Given the description of an element on the screen output the (x, y) to click on. 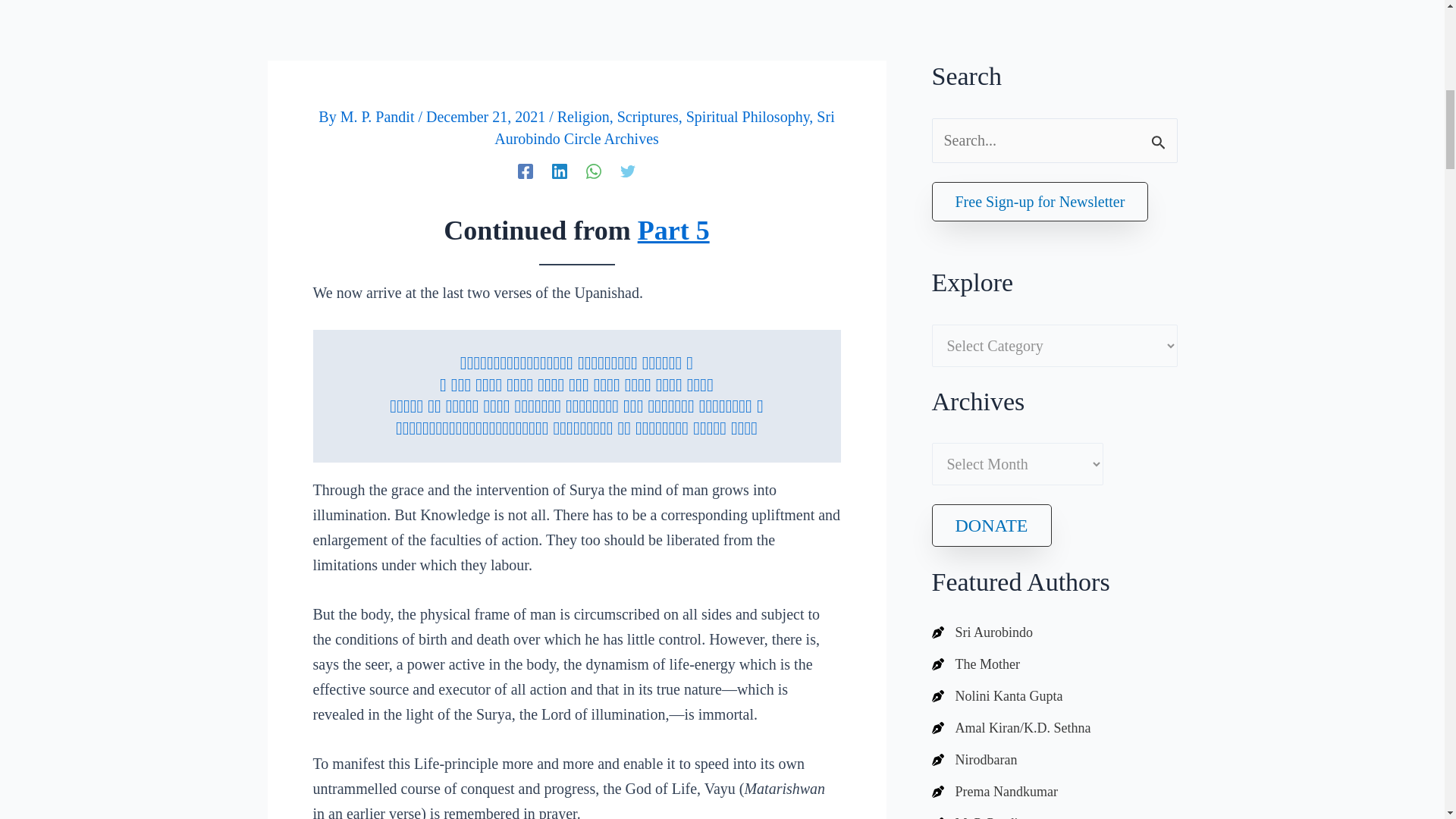
View all posts by M. P. Pandit (379, 116)
Search (1159, 135)
Search (1159, 135)
